Given the description of an element on the screen output the (x, y) to click on. 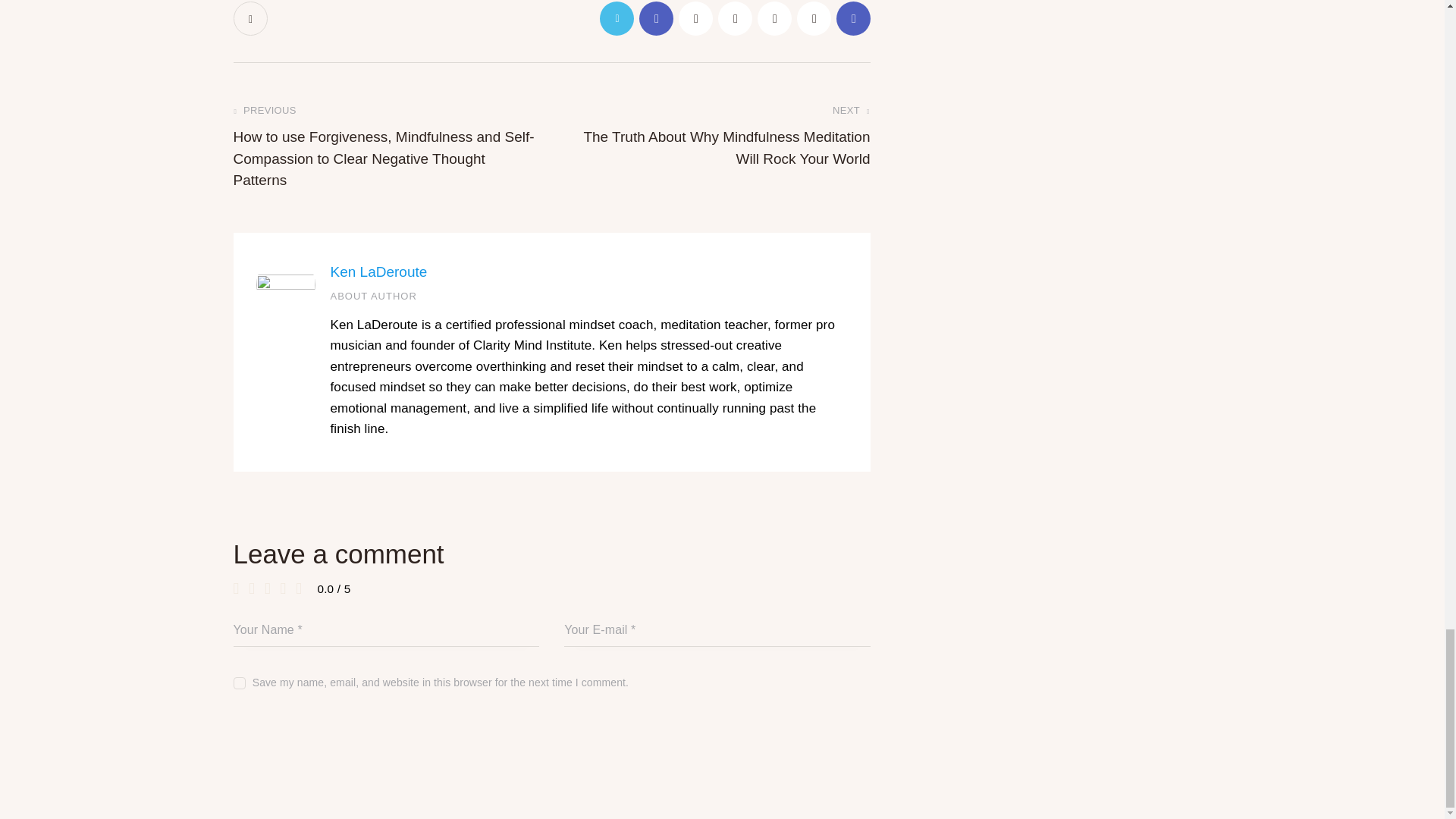
Like (251, 18)
yes (237, 678)
